Given the description of an element on the screen output the (x, y) to click on. 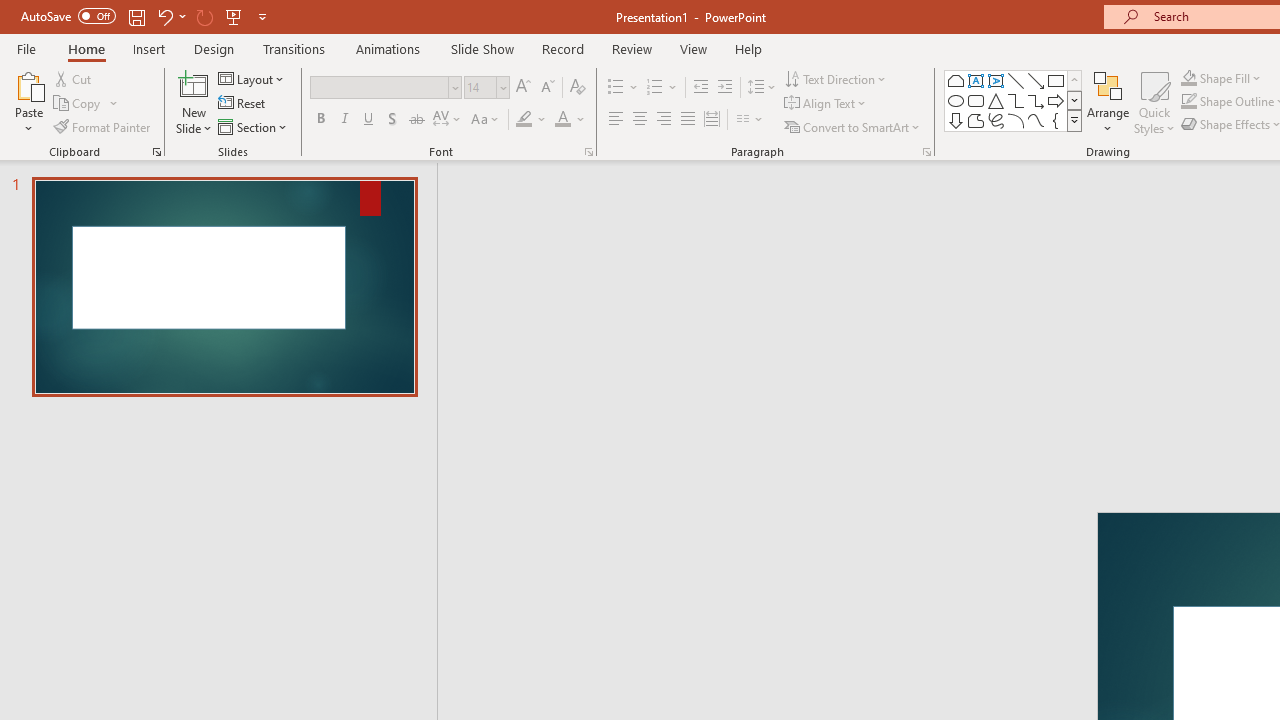
Rectangle: Top Corners Snipped (955, 80)
